Given the description of an element on the screen output the (x, y) to click on. 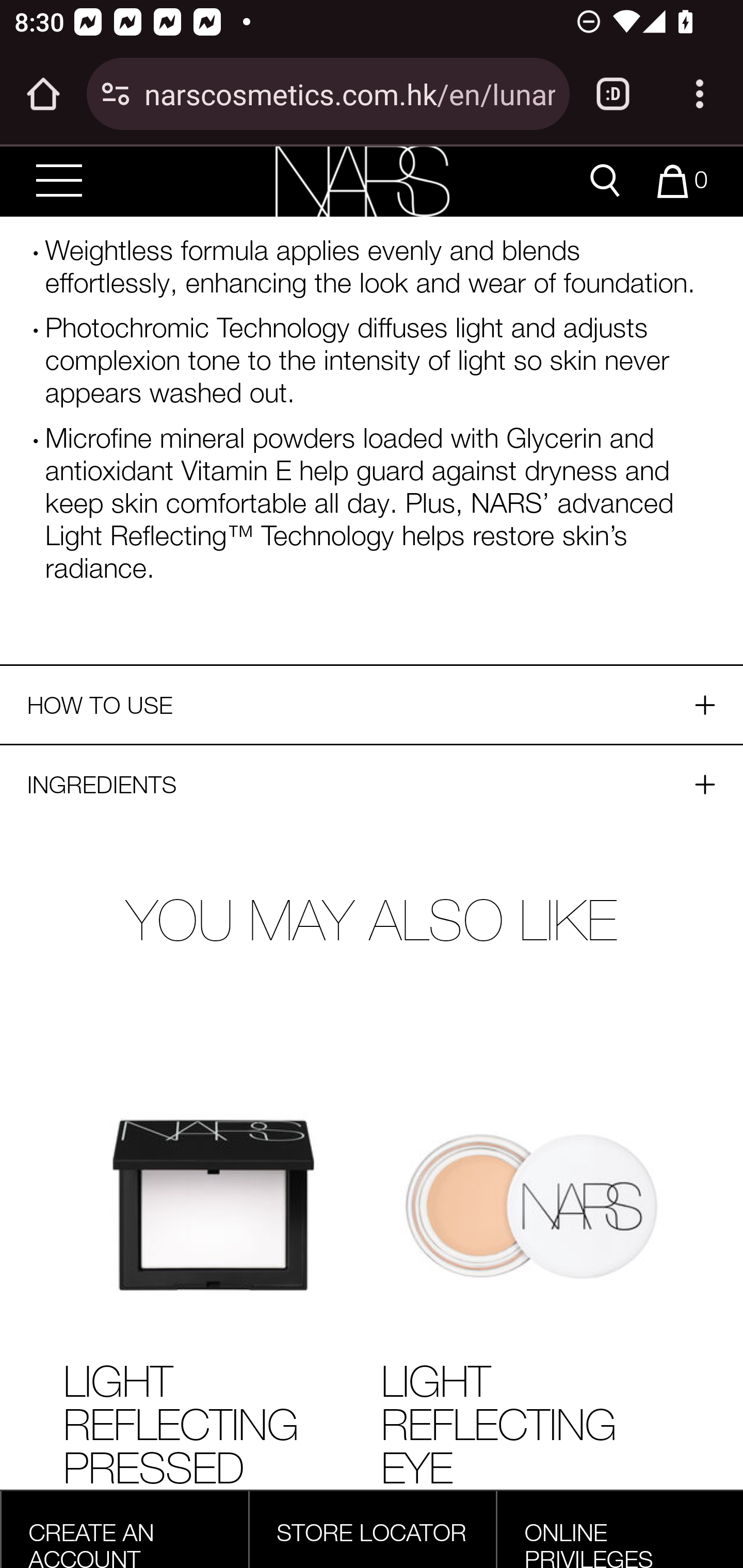
Open the home page (43, 93)
Connection is secure (115, 93)
Switch or close tabs (612, 93)
Customize and control Google Chrome (699, 93)
BENEFITS  BENEFITS  (371, 184)
NARS (361, 180)
WHAT ARE YOU LOOKING FOR? (605, 181)
HOW TO USE  HOW TO USE  (371, 704)
INGREDIENTS  INGREDIENTS  (371, 783)
Light Reflecting Pressed Setting Powder , Crystal (212, 1207)
Light Reflecting Eye Brightener, NIGHT SWAN (530, 1207)
LIGHT REFLECTING PRESSED SETTING POWDER  (212, 1461)
LIGHT REFLECTING EYE BRIGHTENER (530, 1461)
CREATE AN ACCOUNT (90, 1542)
STORE LOCATOR (371, 1531)
ONLINE PRIVILEGES (588, 1542)
